Given the description of an element on the screen output the (x, y) to click on. 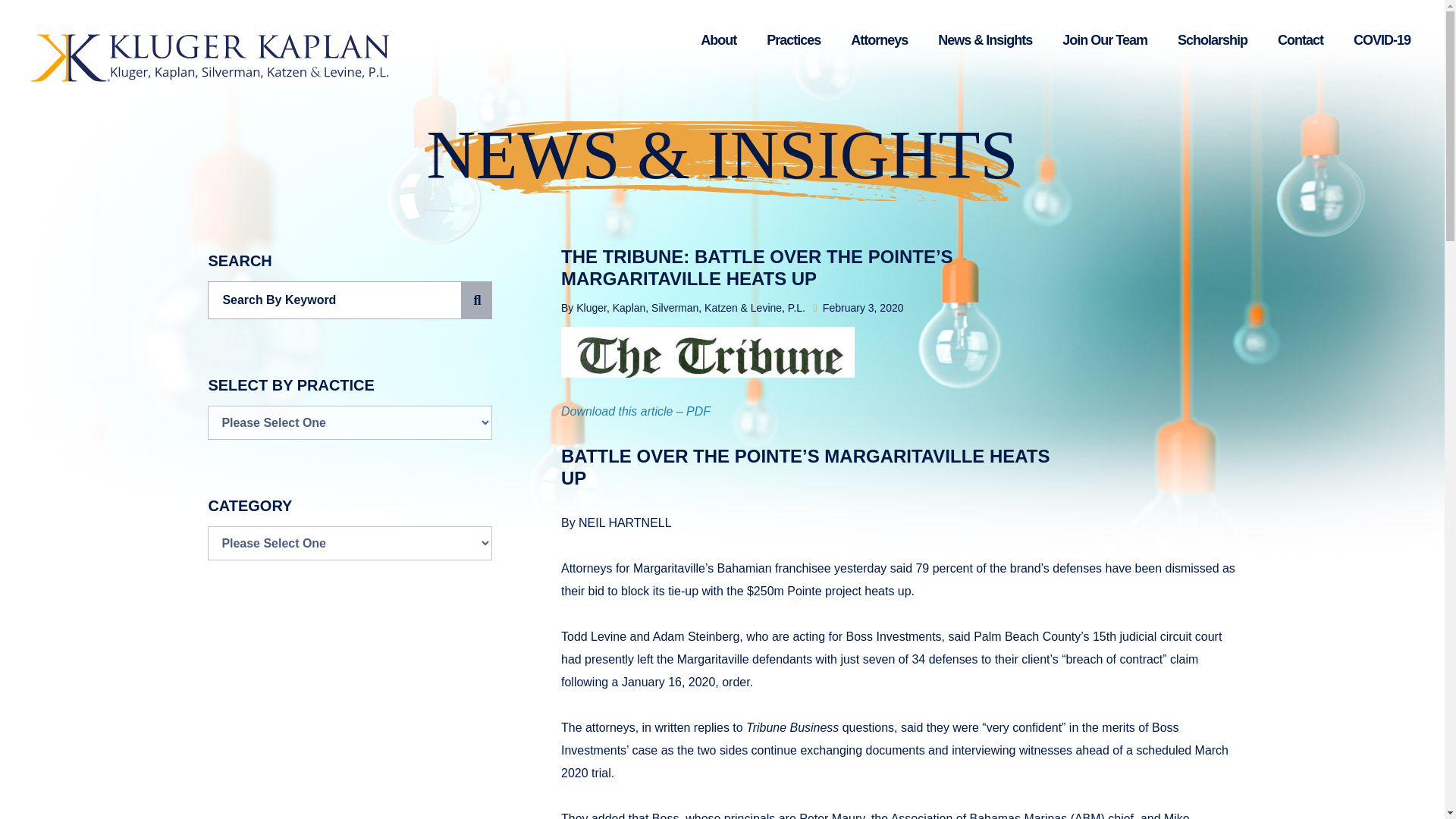
Practices (793, 42)
About (718, 42)
